Given the description of an element on the screen output the (x, y) to click on. 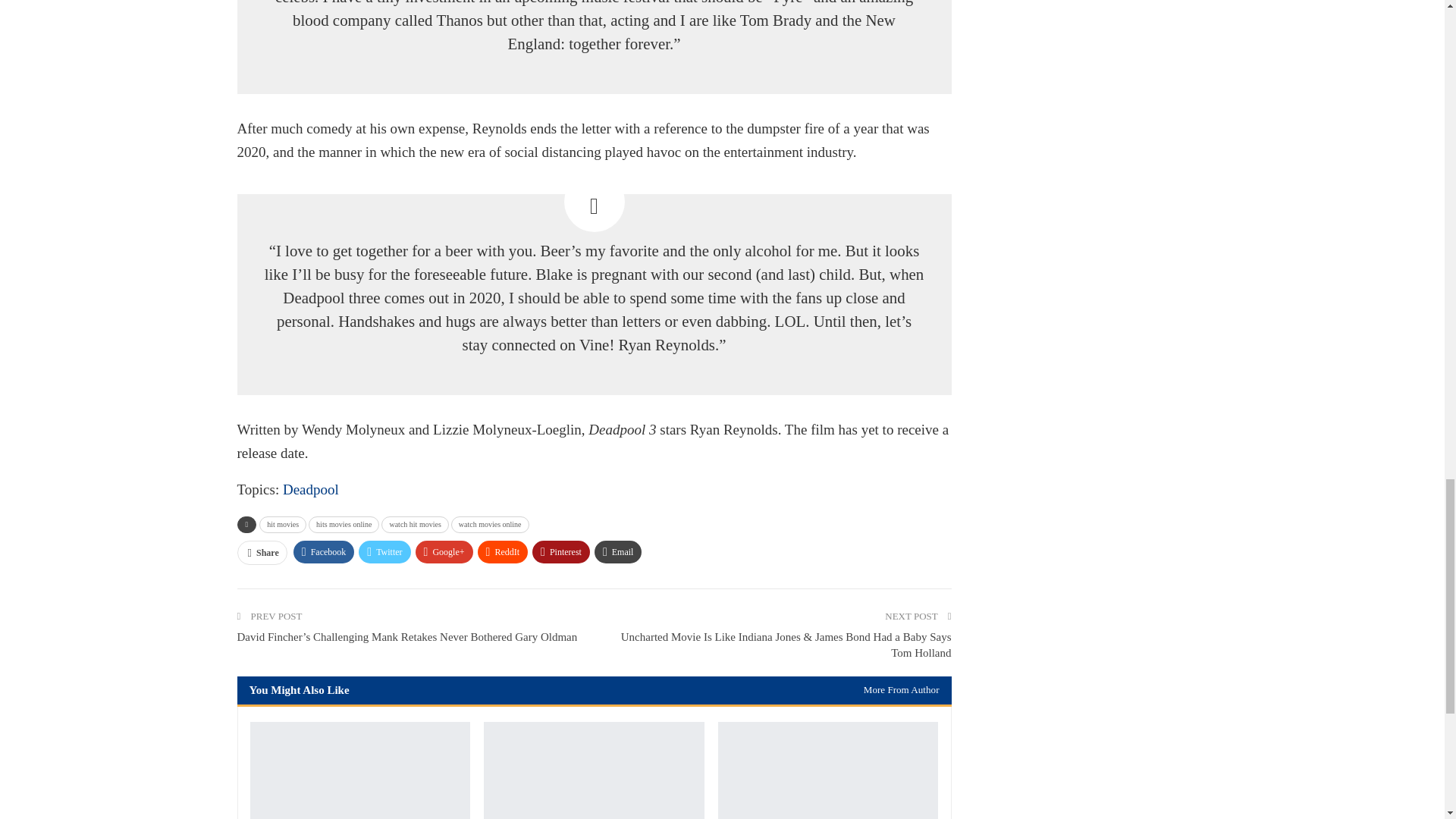
watch movies online (490, 524)
hit movies (282, 524)
watch hit movies (414, 524)
Email (618, 551)
Deadpool (310, 489)
Twitter (384, 551)
hits movies online (343, 524)
Pinterest (560, 551)
Facebook (324, 551)
ReddIt (502, 551)
